Given the description of an element on the screen output the (x, y) to click on. 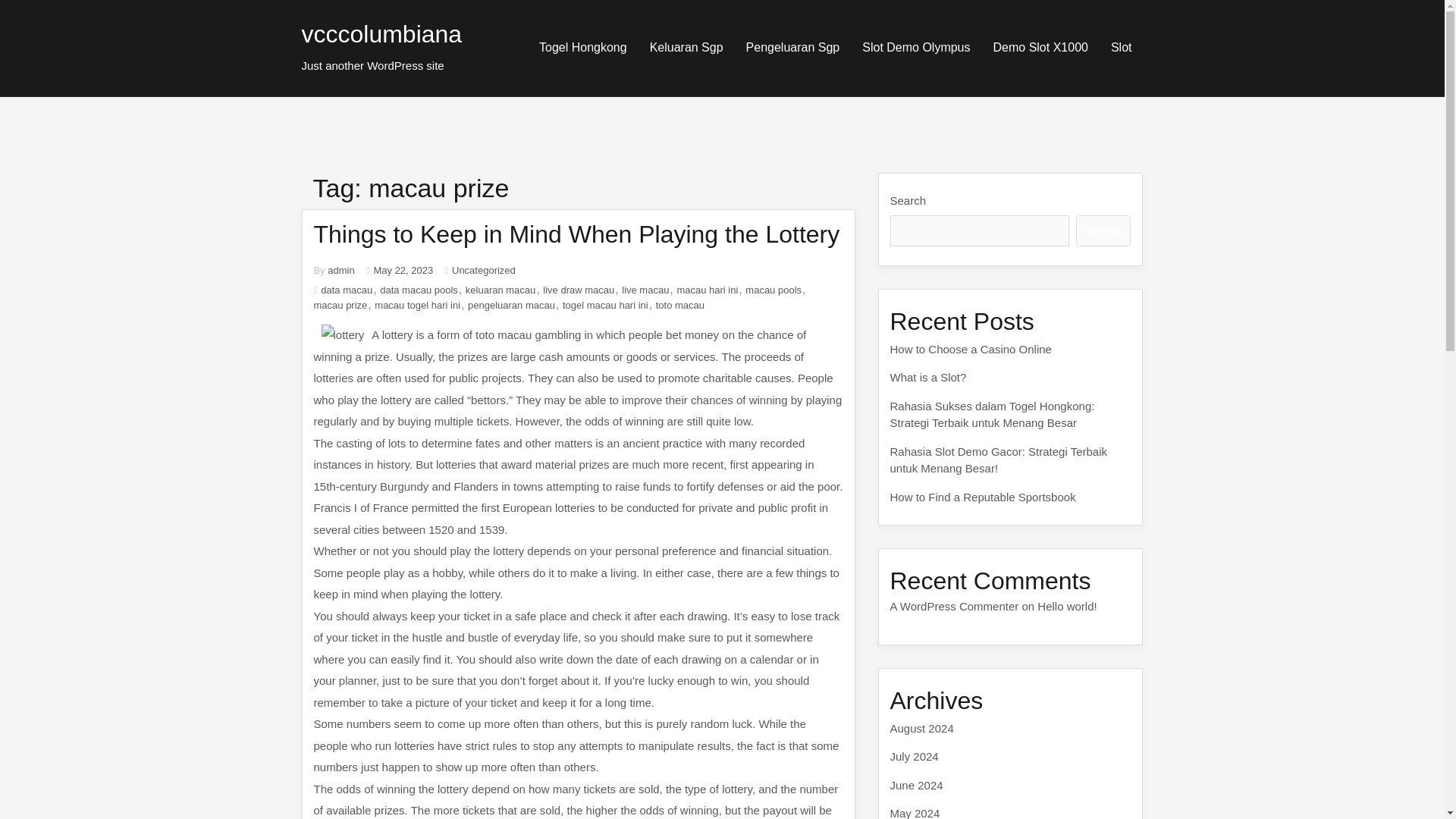
vcccolumbiana (382, 33)
Hello world! (1066, 623)
Slot Demo Olympus (915, 47)
Search (1103, 230)
keluaran macau (500, 289)
slot (1120, 47)
Togel Hongkong (583, 47)
How to Be a Good Poker Player (970, 349)
Slot (1120, 47)
slot demo olympus (915, 47)
